Given the description of an element on the screen output the (x, y) to click on. 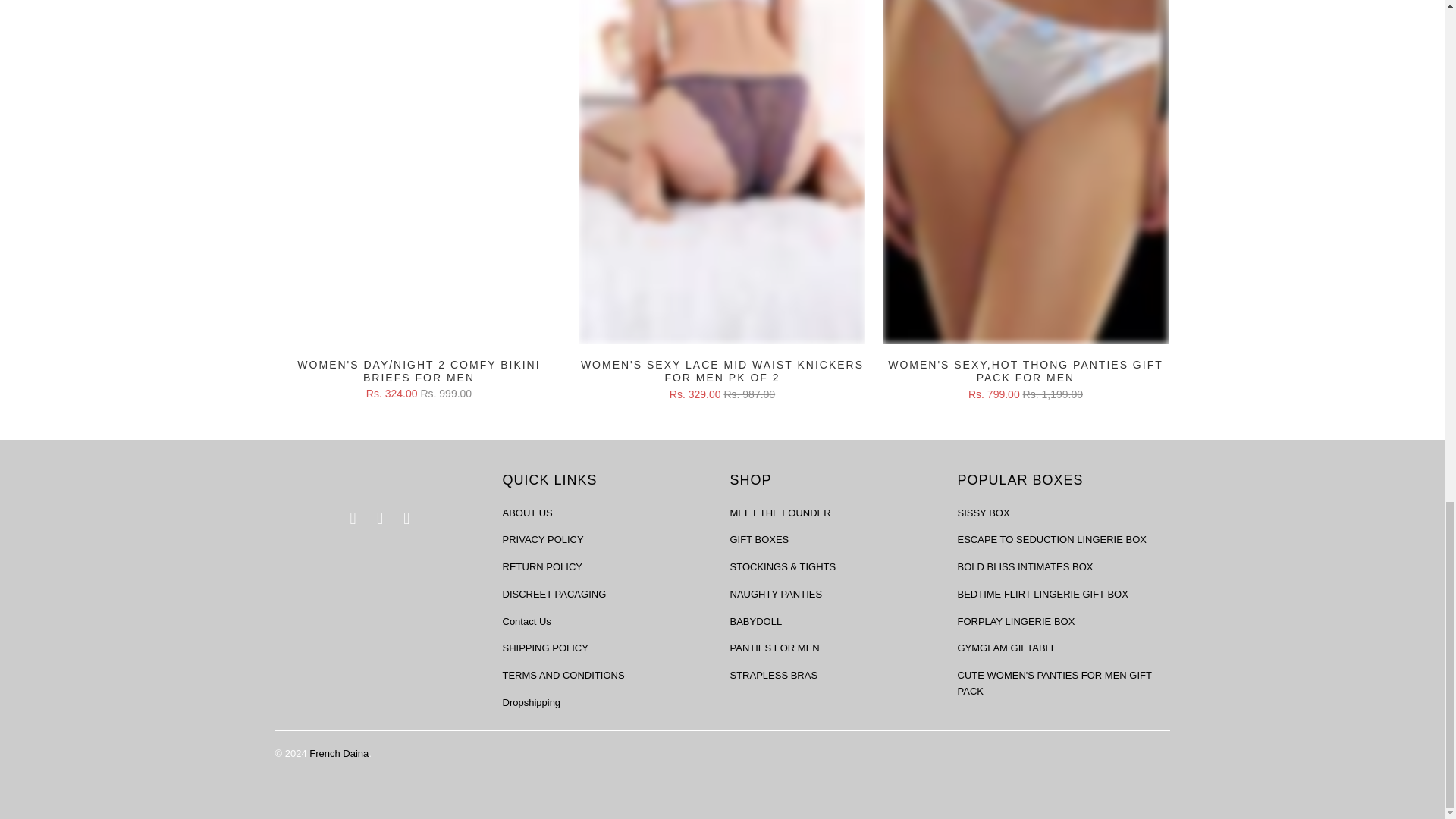
French Daina on Pinterest (353, 518)
French Daina on Instagram (407, 518)
French Daina on Tumblr (380, 518)
